Given the description of an element on the screen output the (x, y) to click on. 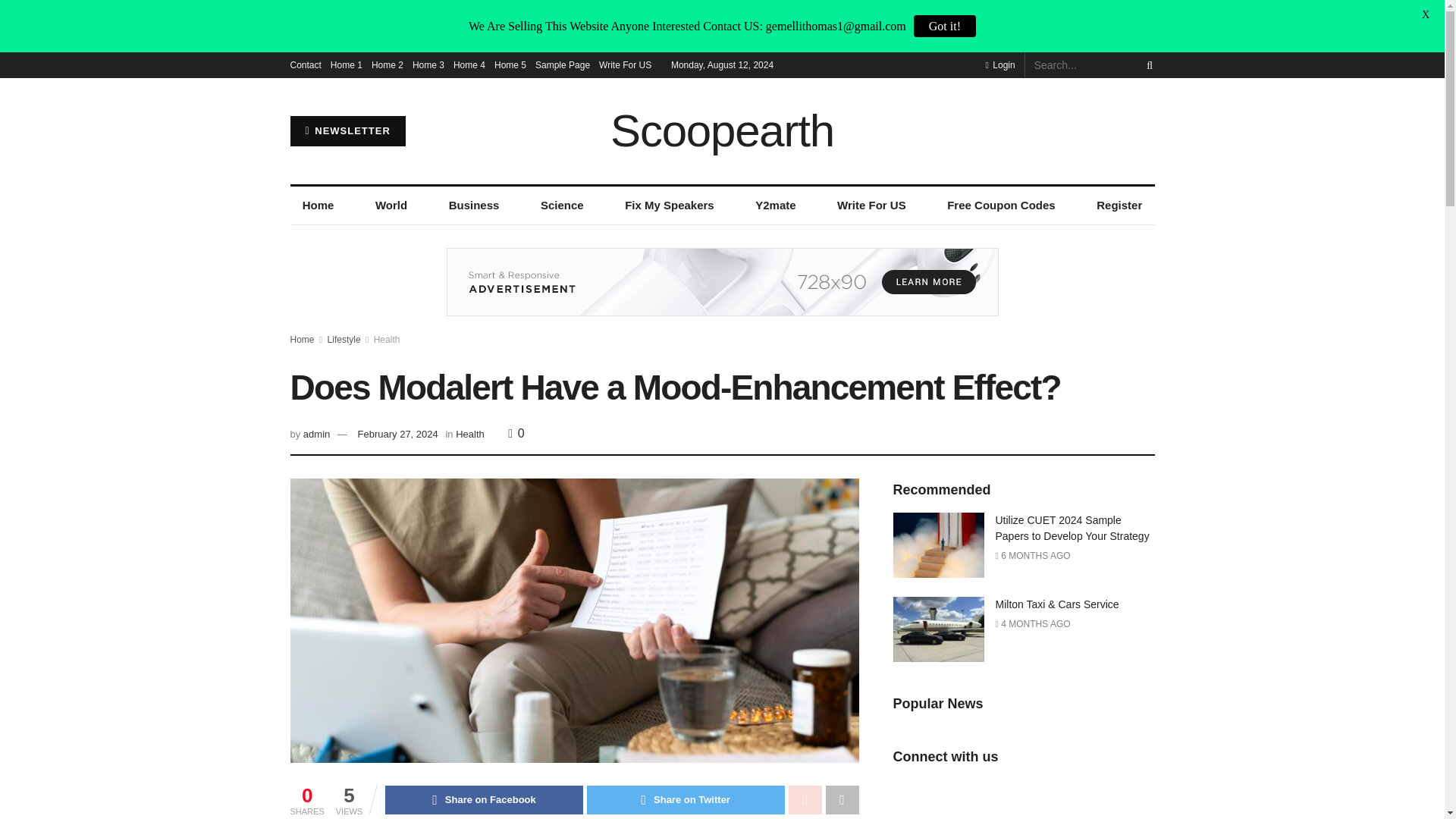
Login (999, 64)
NEWSLETTER (346, 131)
Write For US (871, 205)
Home (317, 205)
Register (1119, 205)
Write For US (624, 64)
Home 5 (510, 64)
Home 1 (346, 64)
Fix My Speakers (669, 205)
Business (473, 205)
